Given the description of an element on the screen output the (x, y) to click on. 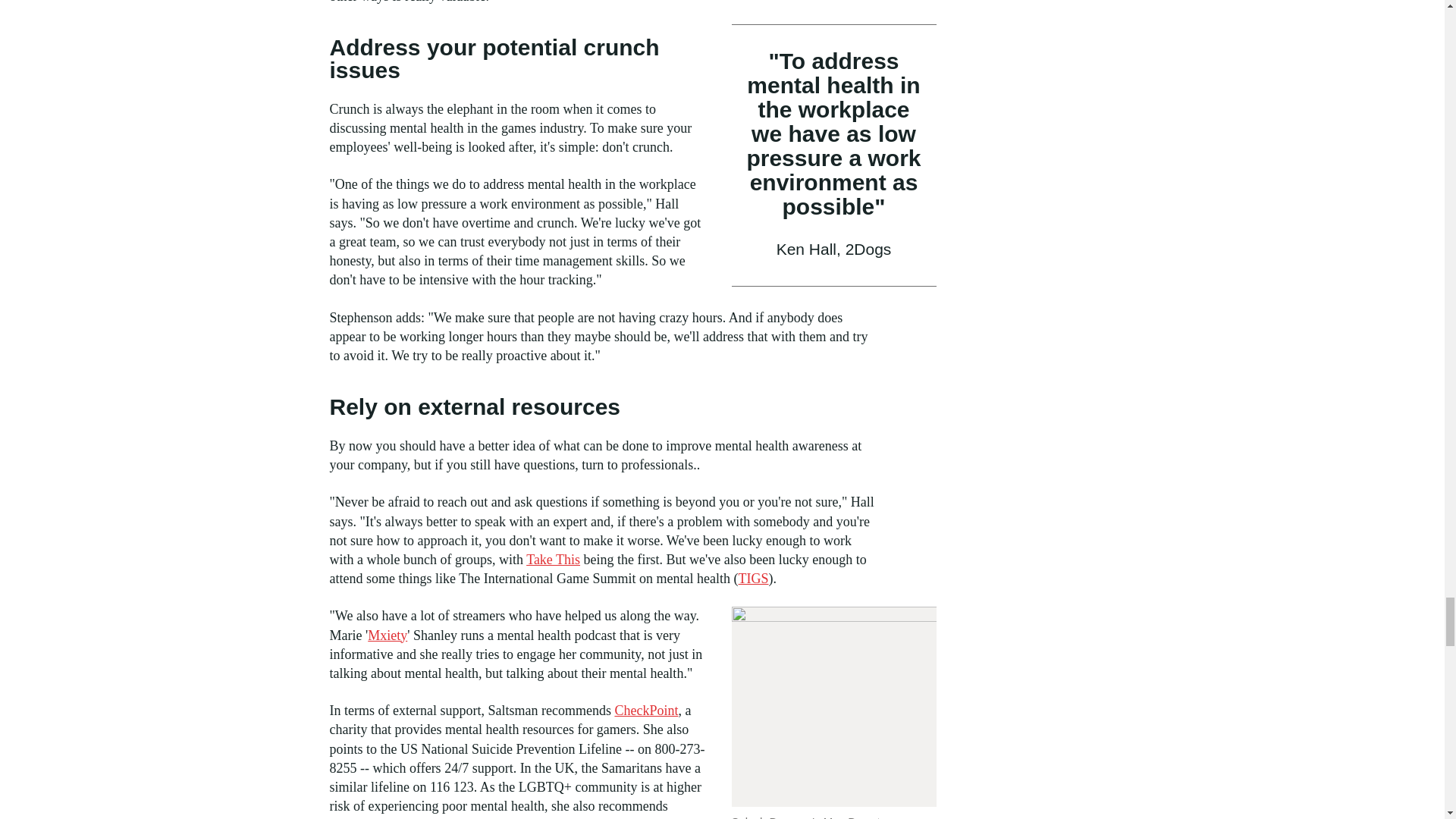
TIGS (753, 578)
Take This (552, 559)
